Given the description of an element on the screen output the (x, y) to click on. 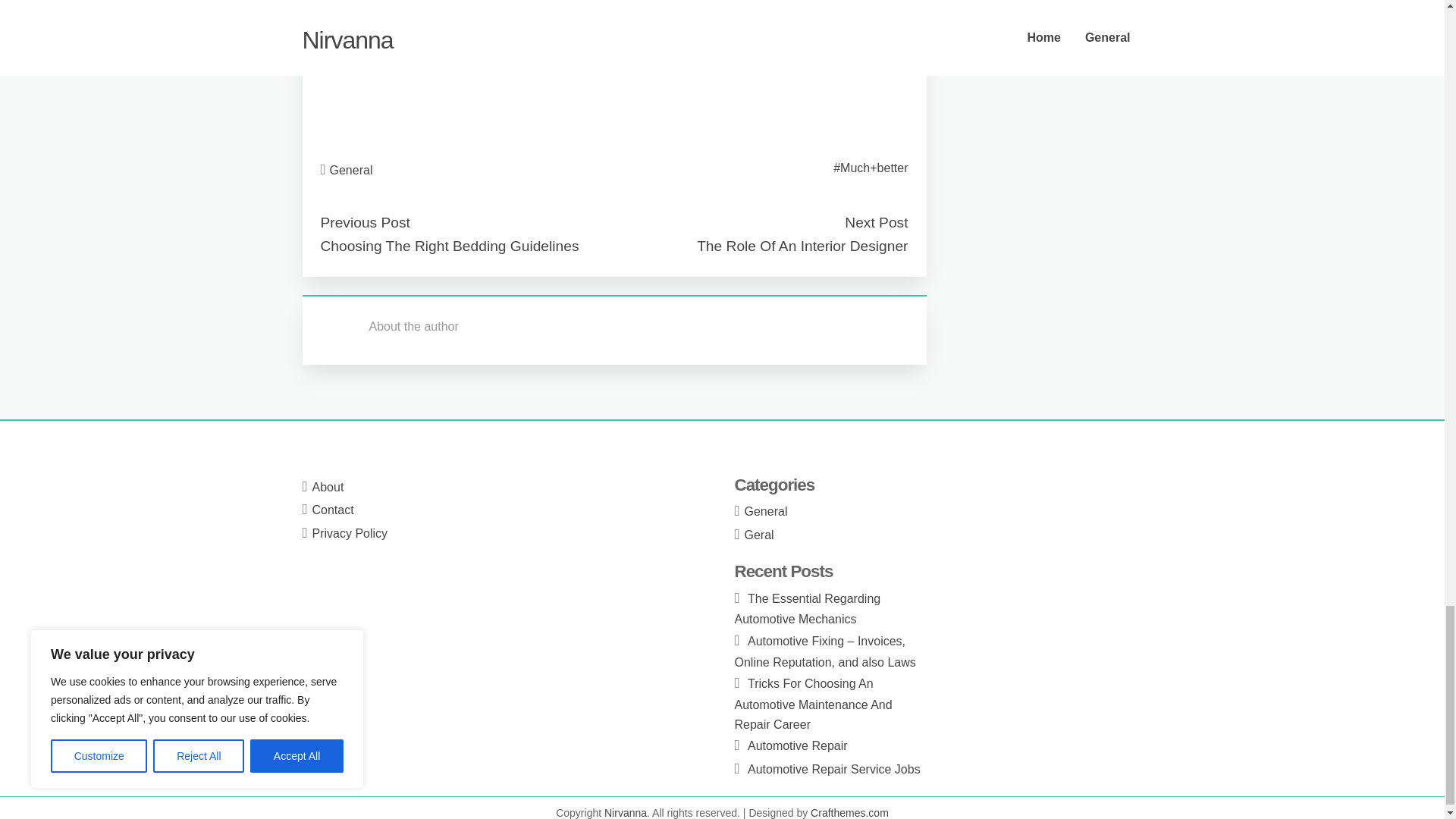
The Role Of An Interior Designer (802, 245)
Choosing The Right Bedding Guidelines (449, 245)
General (351, 169)
Previous Post (364, 222)
Next Post (875, 222)
